Given the description of an element on the screen output the (x, y) to click on. 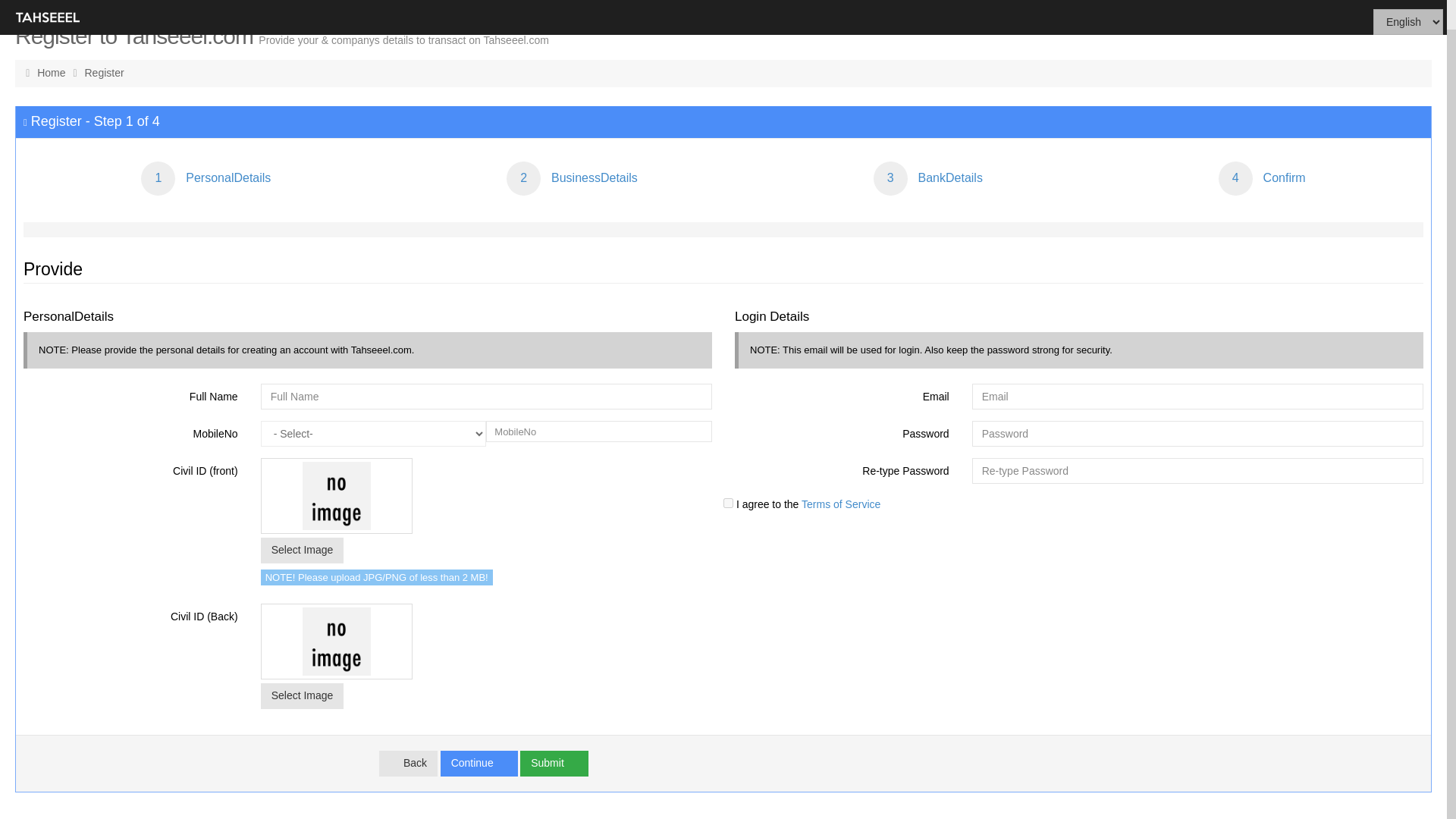
Continue (479, 763)
on (728, 502)
Submit (553, 763)
4 Confirm (1261, 178)
Register (103, 72)
Back (408, 763)
Home (52, 72)
2 BusinessDetails (571, 178)
Terms of Service (838, 503)
1 PersonalDetails (205, 178)
3 BankDetails (927, 178)
